Given the description of an element on the screen output the (x, y) to click on. 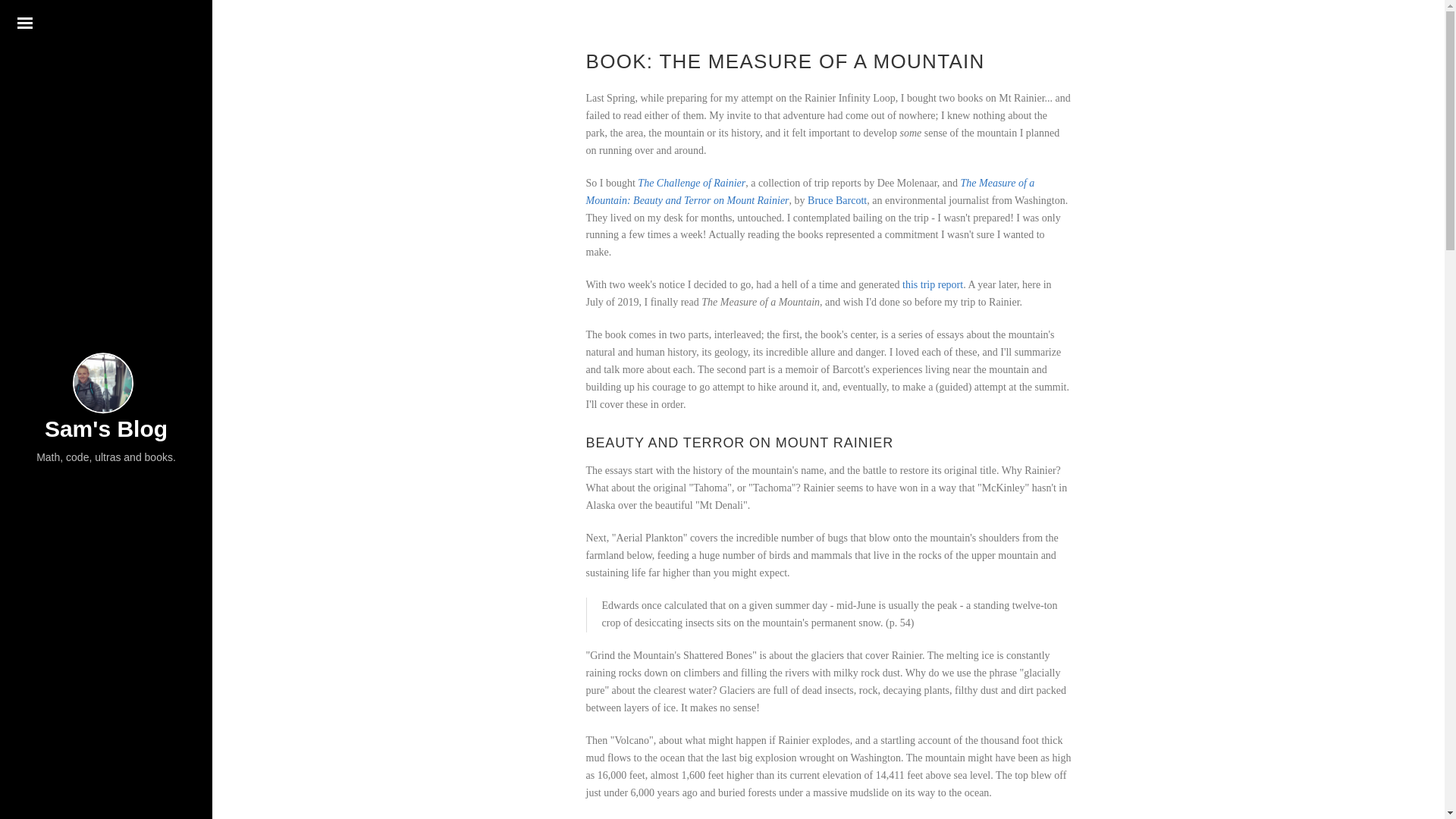
The Challenge of Rainier (691, 183)
Sam's Blog (106, 429)
Bruce Barcott (837, 200)
this trip report (932, 284)
